Given the description of an element on the screen output the (x, y) to click on. 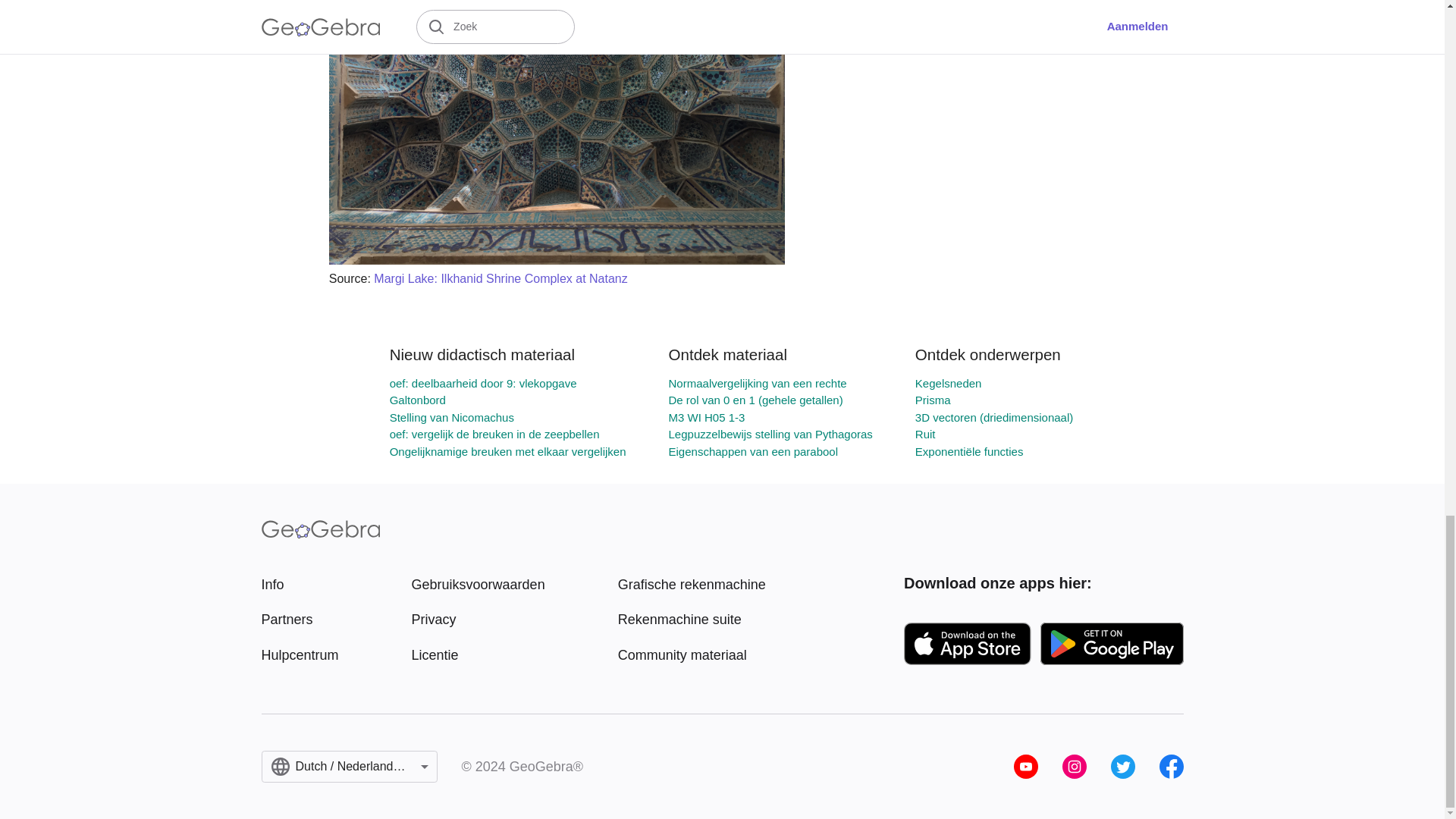
oef: deelbaarheid door 9: vlekopgave (483, 382)
Galtonbord (417, 399)
Normaalvergelijking van een rechte (757, 382)
Language Switcher Dropdown (348, 766)
Twitter (1121, 766)
Hulpcentrum (298, 655)
Ongelijknamige breuken met elkaar vergelijken (508, 451)
Ruit (925, 433)
Margi Lake: Ilkhanid Shrine Complex at Natanz (500, 278)
Youtube (1024, 766)
Partners (298, 619)
Stelling van Nicomachus (451, 417)
Instagram (1073, 766)
Eigenschappen van een parabool (753, 451)
Facebook (1170, 766)
